Given the description of an element on the screen output the (x, y) to click on. 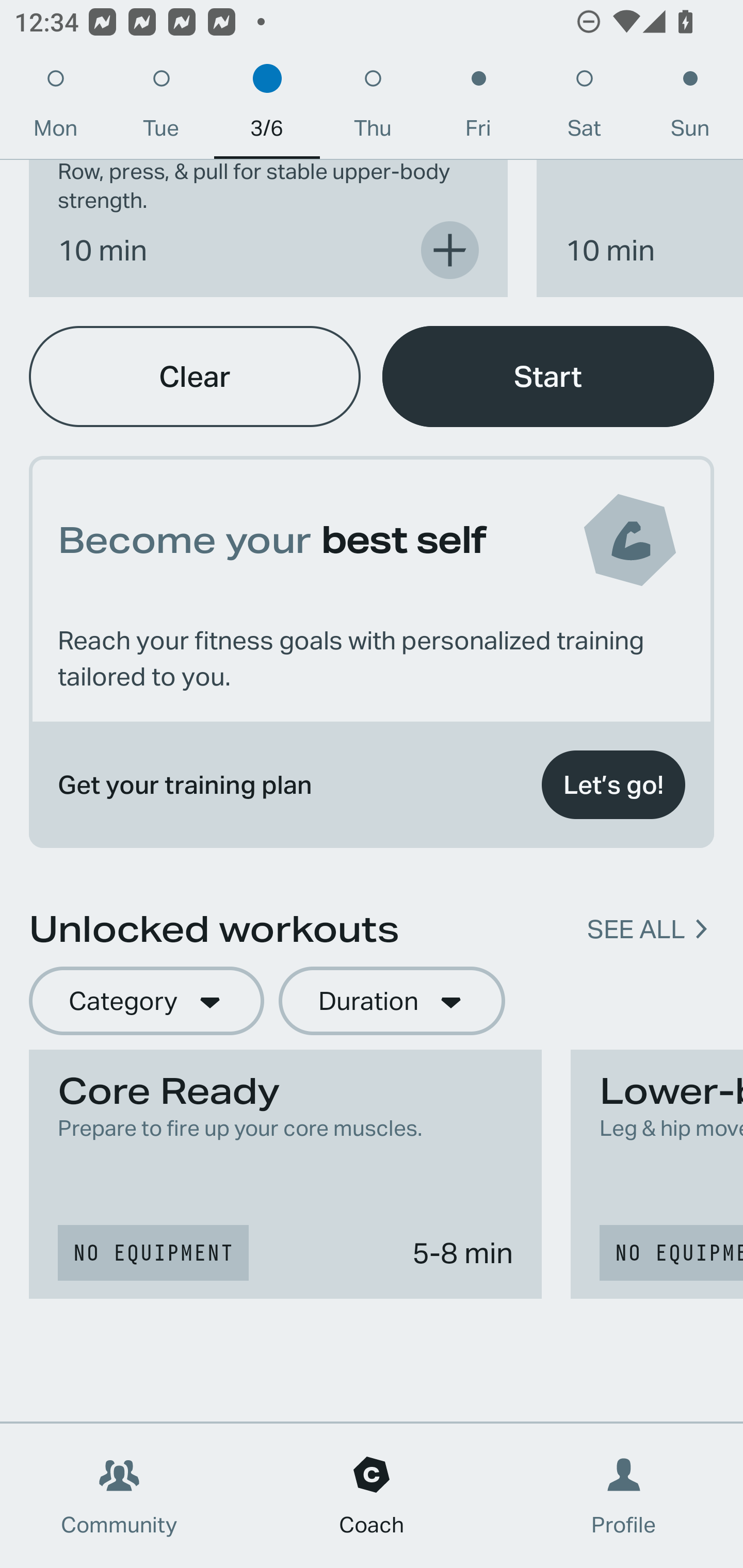
Mon (55, 108)
Tue (160, 108)
3/6 (266, 108)
Thu (372, 108)
Fri (478, 108)
Sat (584, 108)
Sun (690, 108)
Clear (194, 376)
Start (548, 376)
Let’s go! (613, 784)
SEE ALL (635, 928)
Category (146, 1001)
Duration (391, 1001)
Community (119, 1495)
Profile (624, 1495)
